Given the description of an element on the screen output the (x, y) to click on. 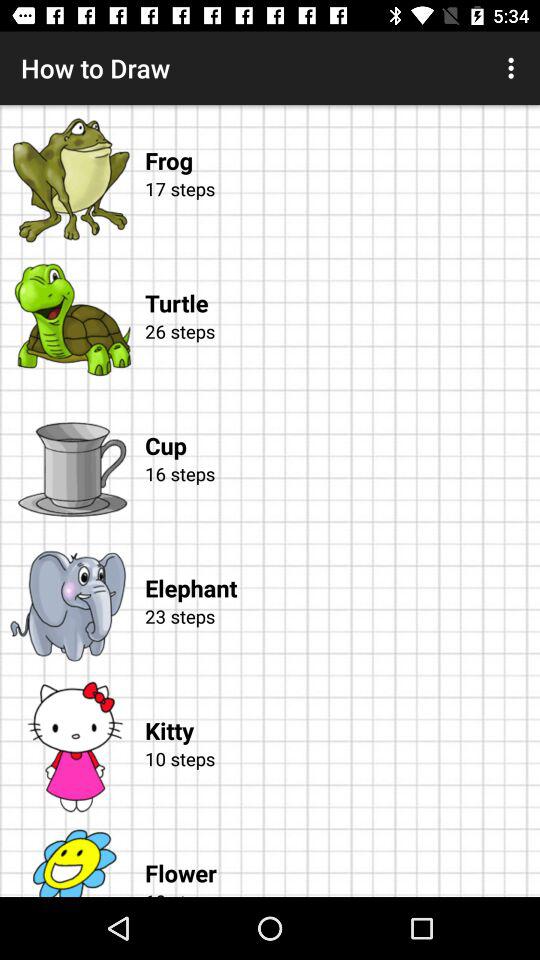
jump until elephant icon (342, 568)
